Given the description of an element on the screen output the (x, y) to click on. 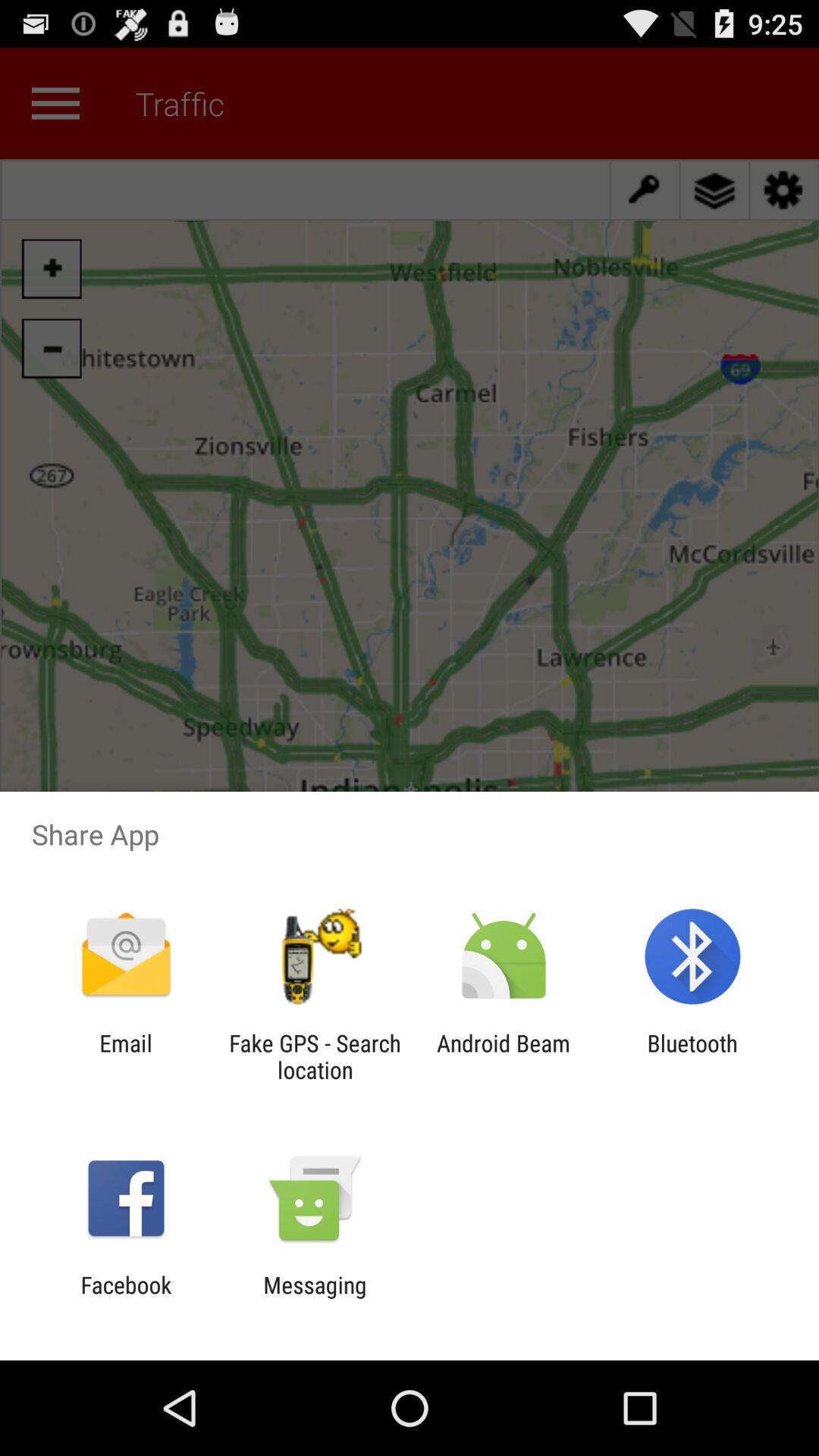
click bluetooth item (692, 1056)
